Given the description of an element on the screen output the (x, y) to click on. 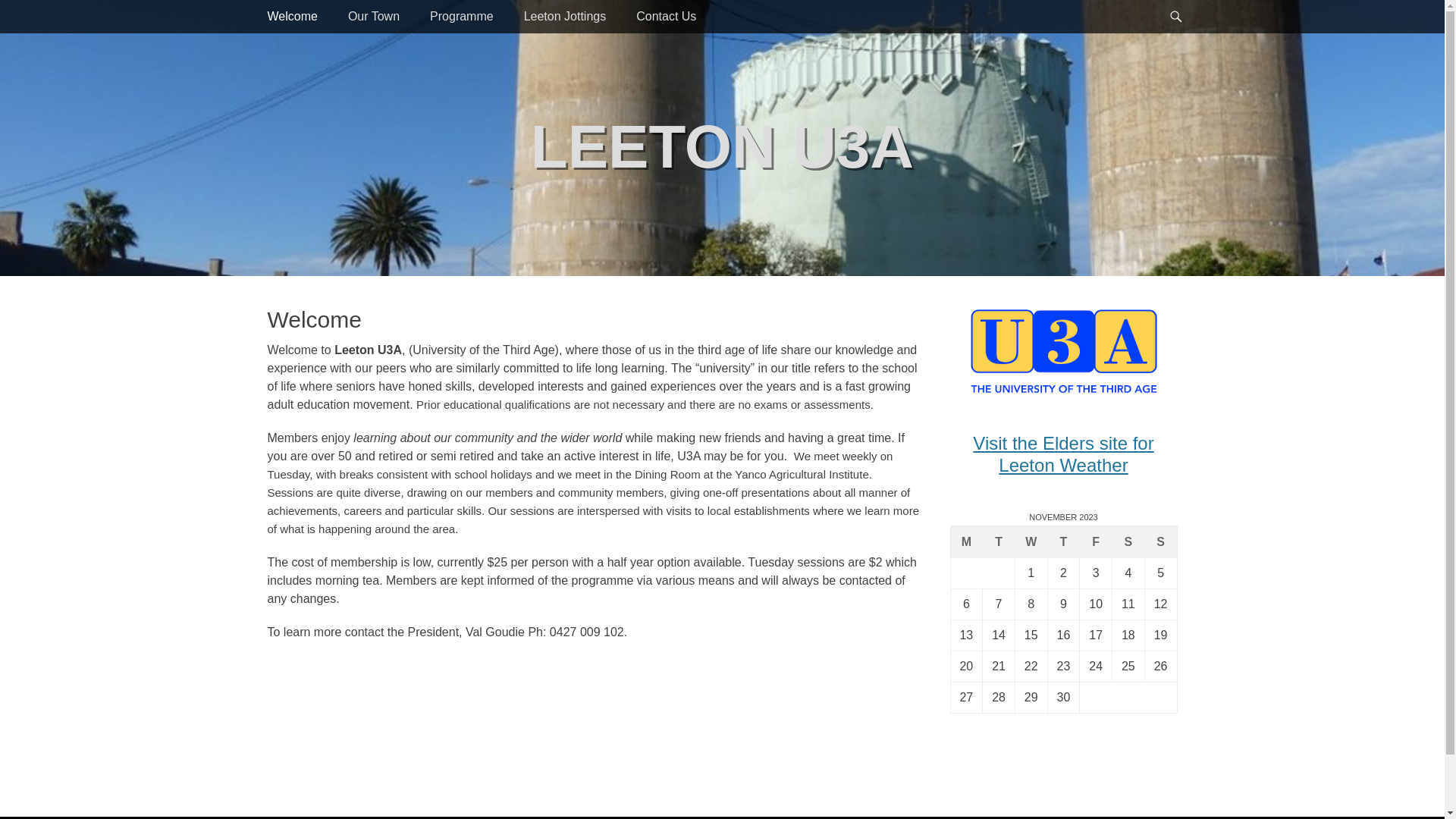
Leeton Jottings Element type: text (564, 16)
Programme Element type: text (461, 16)
Welcome Element type: text (291, 16)
Visit the Elders site for Leeton Weather Element type: text (1062, 454)
Our Town Element type: text (373, 16)
Contact Us Element type: text (666, 16)
LEETON U3A Element type: text (721, 146)
